Given the description of an element on the screen output the (x, y) to click on. 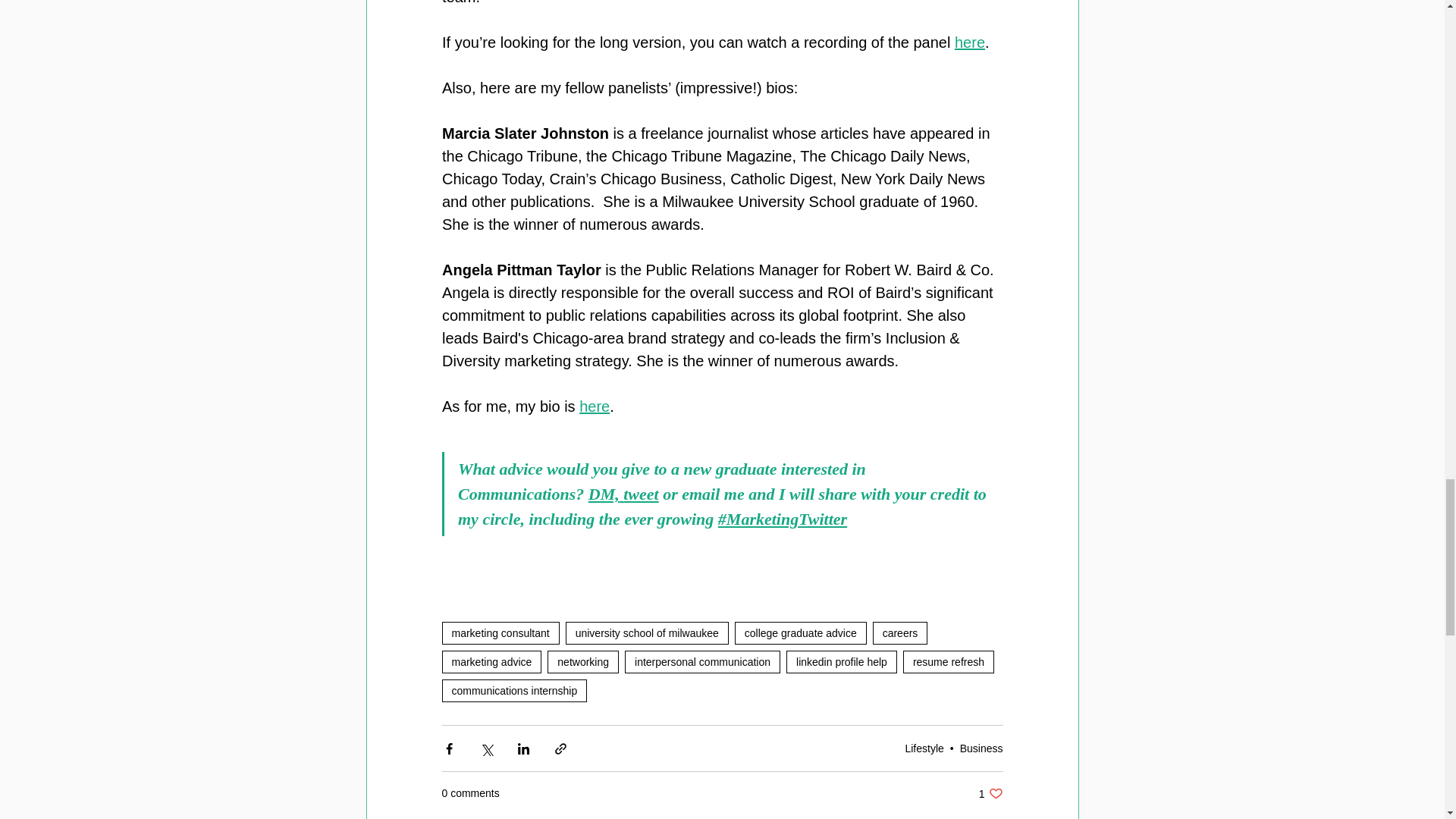
resume refresh (948, 661)
tweet (640, 493)
communications internship (513, 690)
careers (900, 632)
Business (981, 748)
here (990, 793)
Lifestyle (594, 406)
DM, (923, 748)
networking (603, 493)
college graduate advice (582, 661)
university school of milwaukee (800, 632)
linkedin profile help (647, 632)
interpersonal communication (841, 661)
here (702, 661)
